Given the description of an element on the screen output the (x, y) to click on. 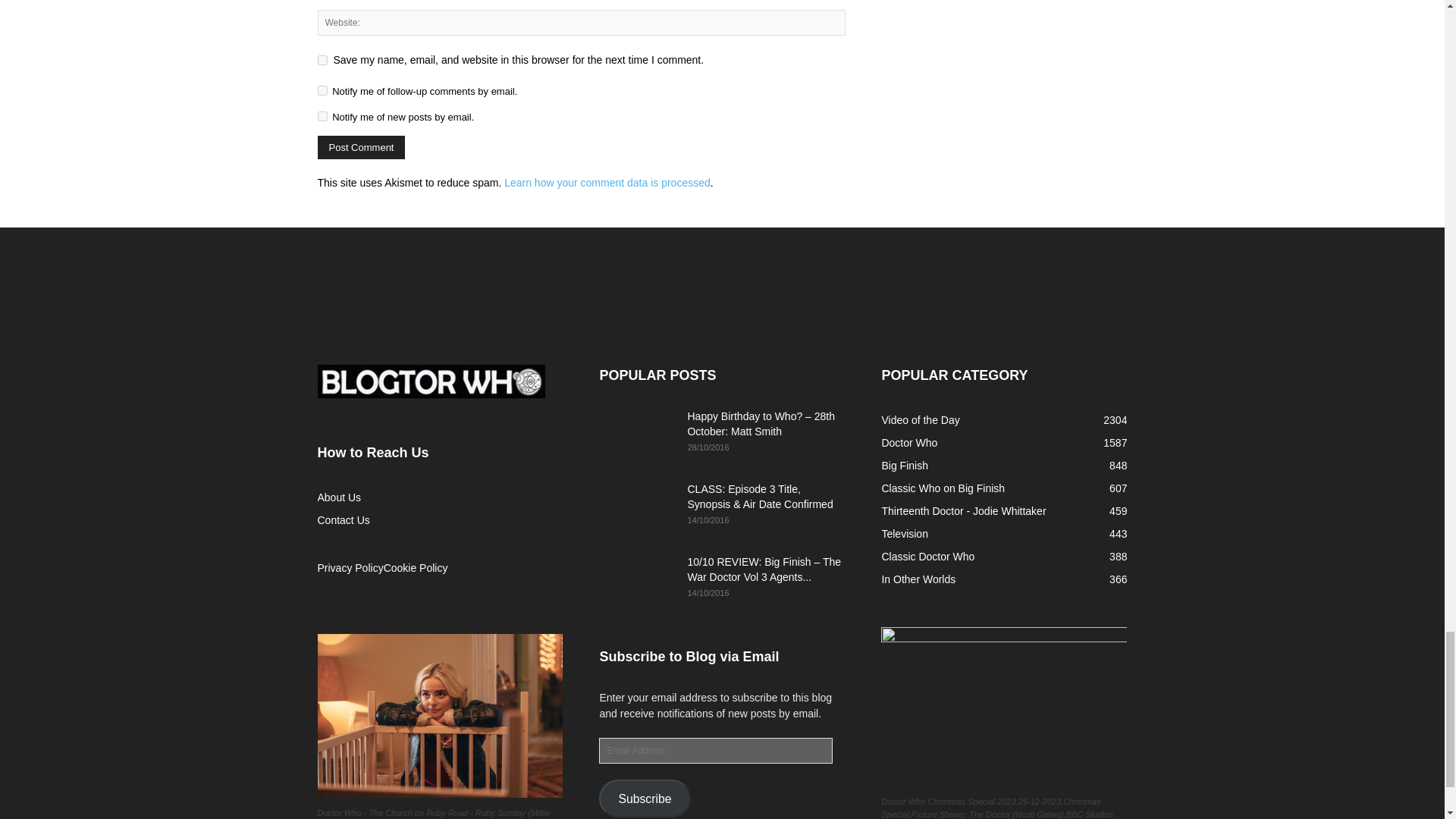
Post Comment (360, 146)
subscribe (321, 116)
yes (321, 60)
subscribe (321, 90)
